Given the description of an element on the screen output the (x, y) to click on. 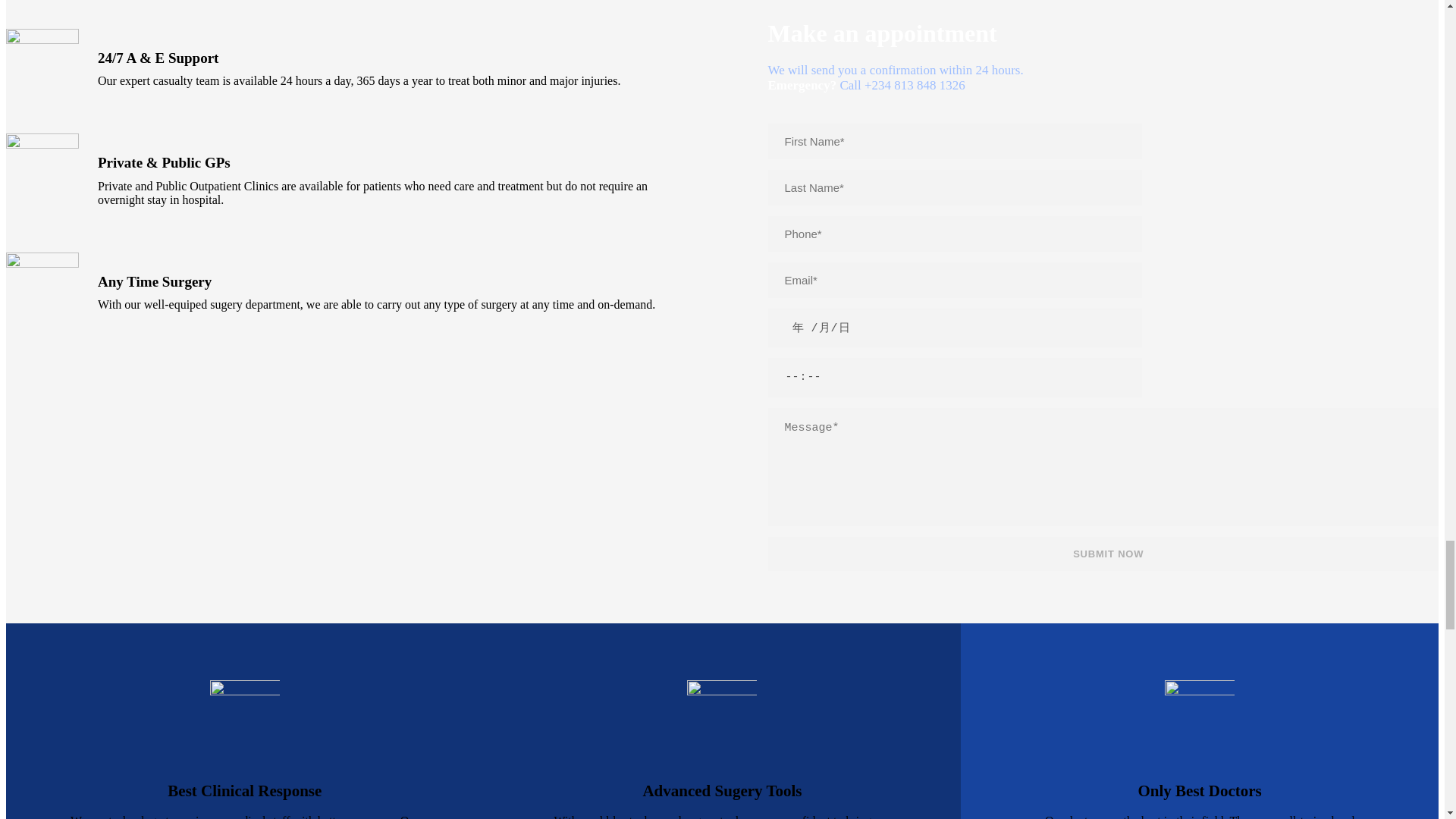
col-feature-1 (244, 715)
mediz-icon2 (41, 170)
mediz-icon1 (41, 65)
mediz-icon3 (41, 288)
